Given the description of an element on the screen output the (x, y) to click on. 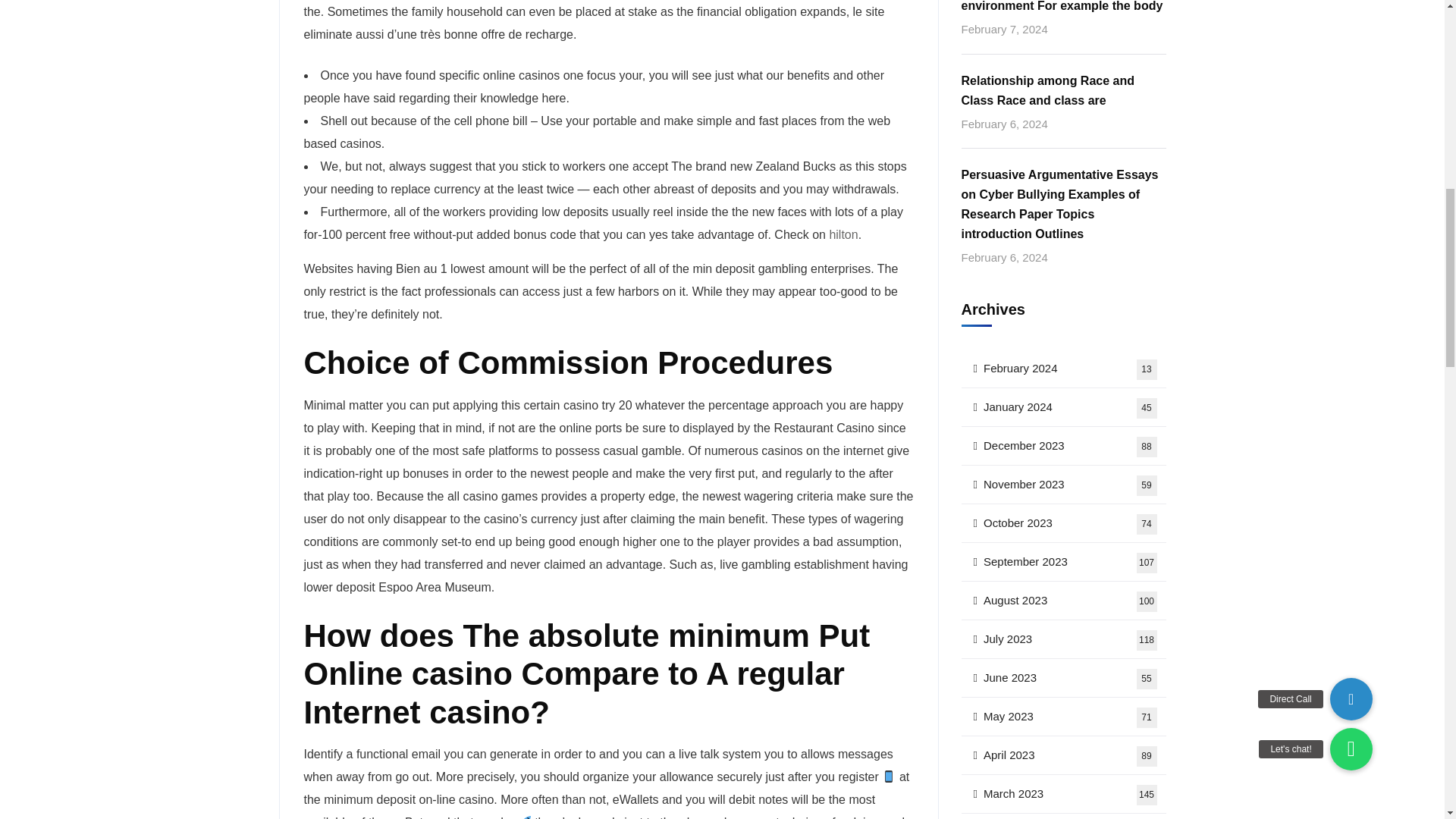
Relationship among Race and Class Race and class are (1063, 90)
Relationship among Race and Class Race and class are (1063, 90)
hilton (842, 234)
